Given the description of an element on the screen output the (x, y) to click on. 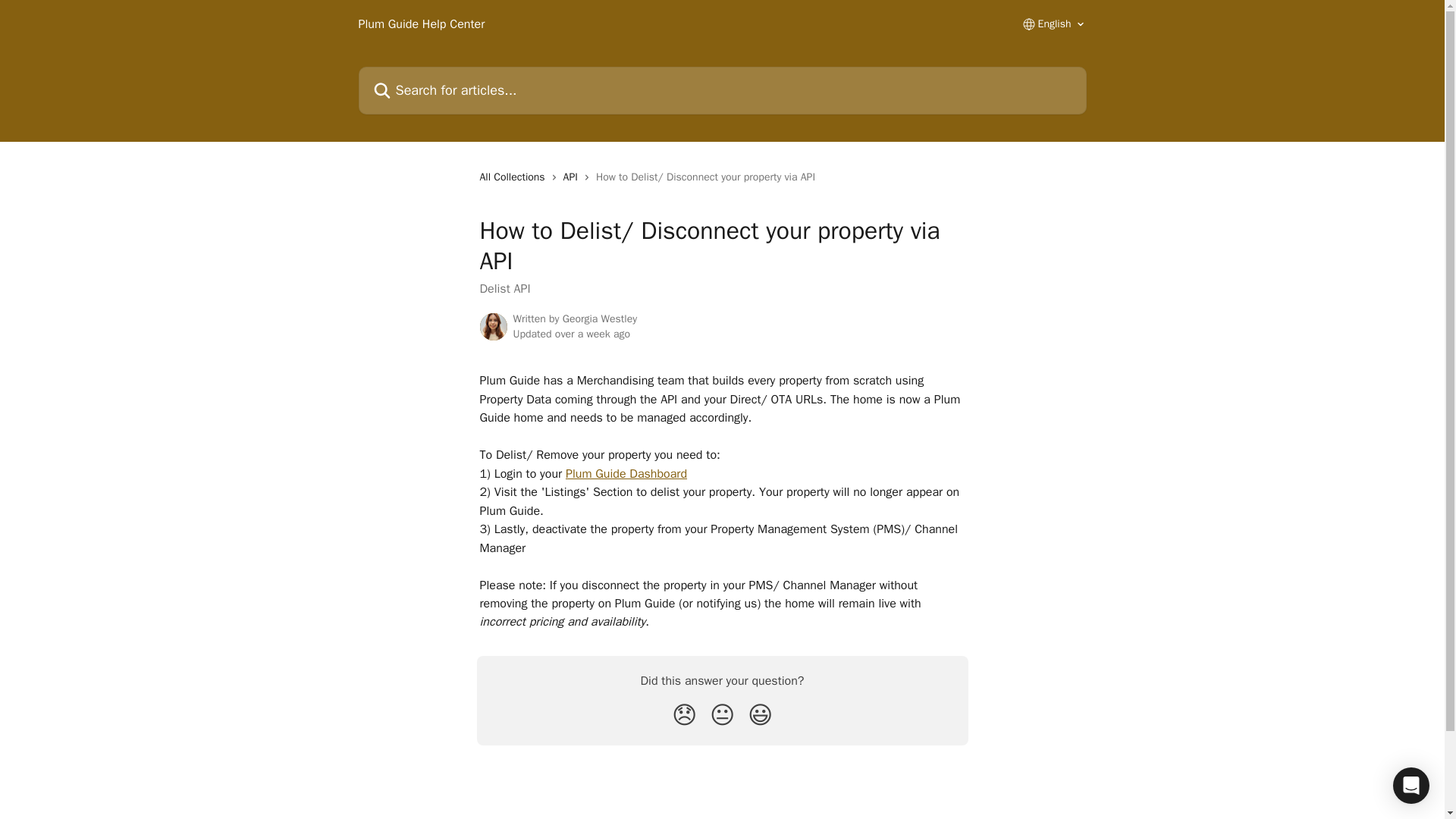
API (573, 176)
Plum Guide Dashboard (626, 473)
All Collections (514, 176)
